Given the description of an element on the screen output the (x, y) to click on. 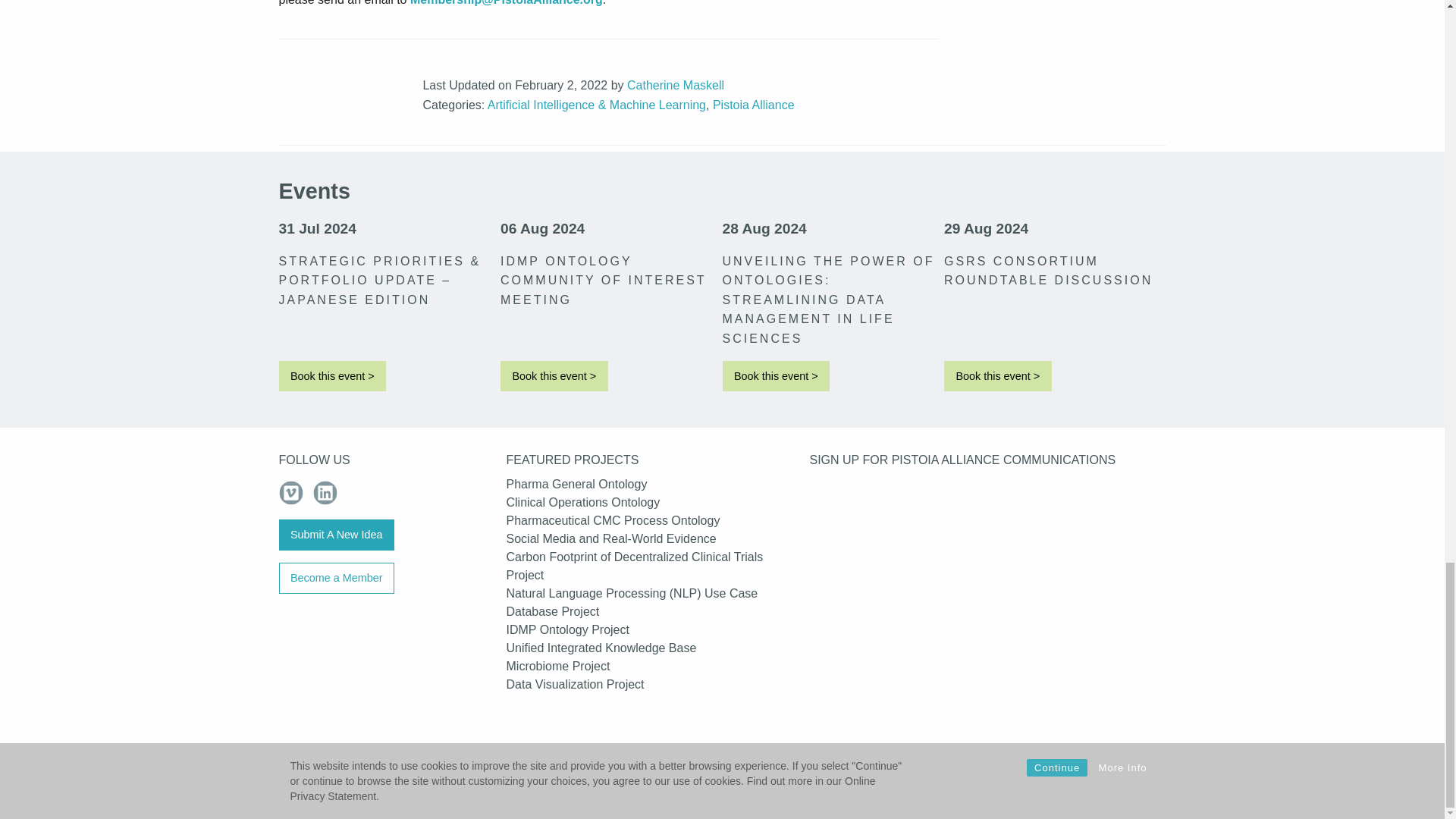
Form 0 (987, 625)
View all posts in Pistoia Alliance (753, 104)
Posts by Catherine Maskell (675, 84)
